Given the description of an element on the screen output the (x, y) to click on. 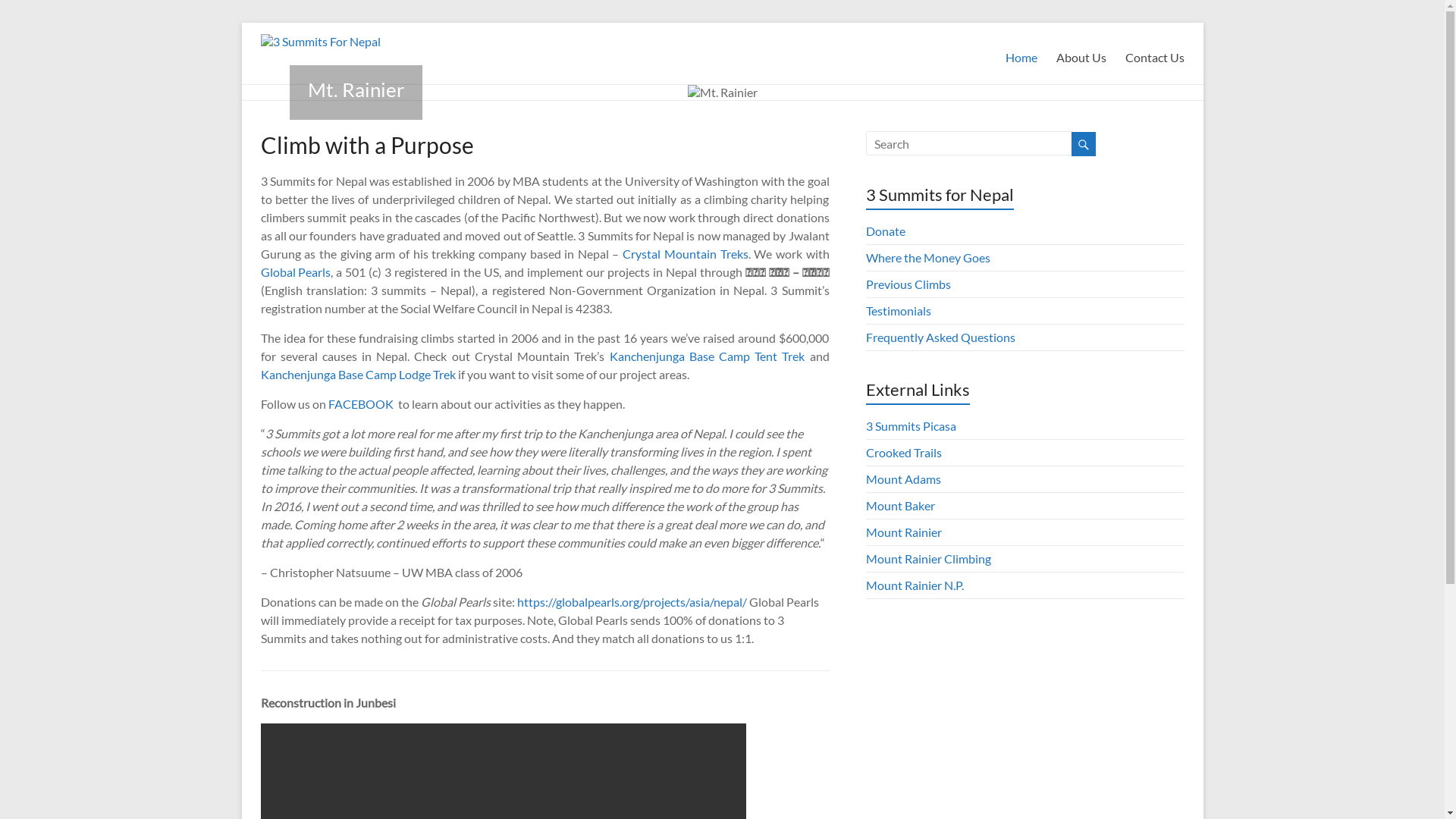
FACEBOOK  Element type: text (361, 403)
Testimonials Element type: text (898, 310)
Kanchenjunga Base Camp Lodge Trek Element type: text (357, 374)
3 Summits For Nepal Element type: hover (320, 41)
Mount Rainier Element type: text (903, 531)
Previous Climbs Element type: text (908, 283)
3 Summits Picasa Element type: text (911, 425)
About Us Element type: text (1080, 54)
Mount Adams Element type: text (903, 478)
Mt. Rainier Element type: text (355, 89)
Crystal Mountain Treks Element type: text (684, 253)
Where the Money Goes Element type: text (928, 257)
Home Element type: text (1021, 54)
Contact Us Element type: text (1154, 54)
Kanchenjunga Base Camp Tent Trek Element type: text (707, 355)
https://globalpearls.org/projects/asia/nepal/ Element type: text (631, 601)
Crooked Trails Element type: text (903, 451)
Mount Baker Element type: text (900, 504)
Donate Element type: text (885, 229)
Mount Rainier N.P. Element type: text (914, 584)
Frequently Asked Questions Element type: text (940, 336)
Global Pearls Element type: text (295, 271)
Mount Rainier Climbing Element type: text (928, 557)
